Given the description of an element on the screen output the (x, y) to click on. 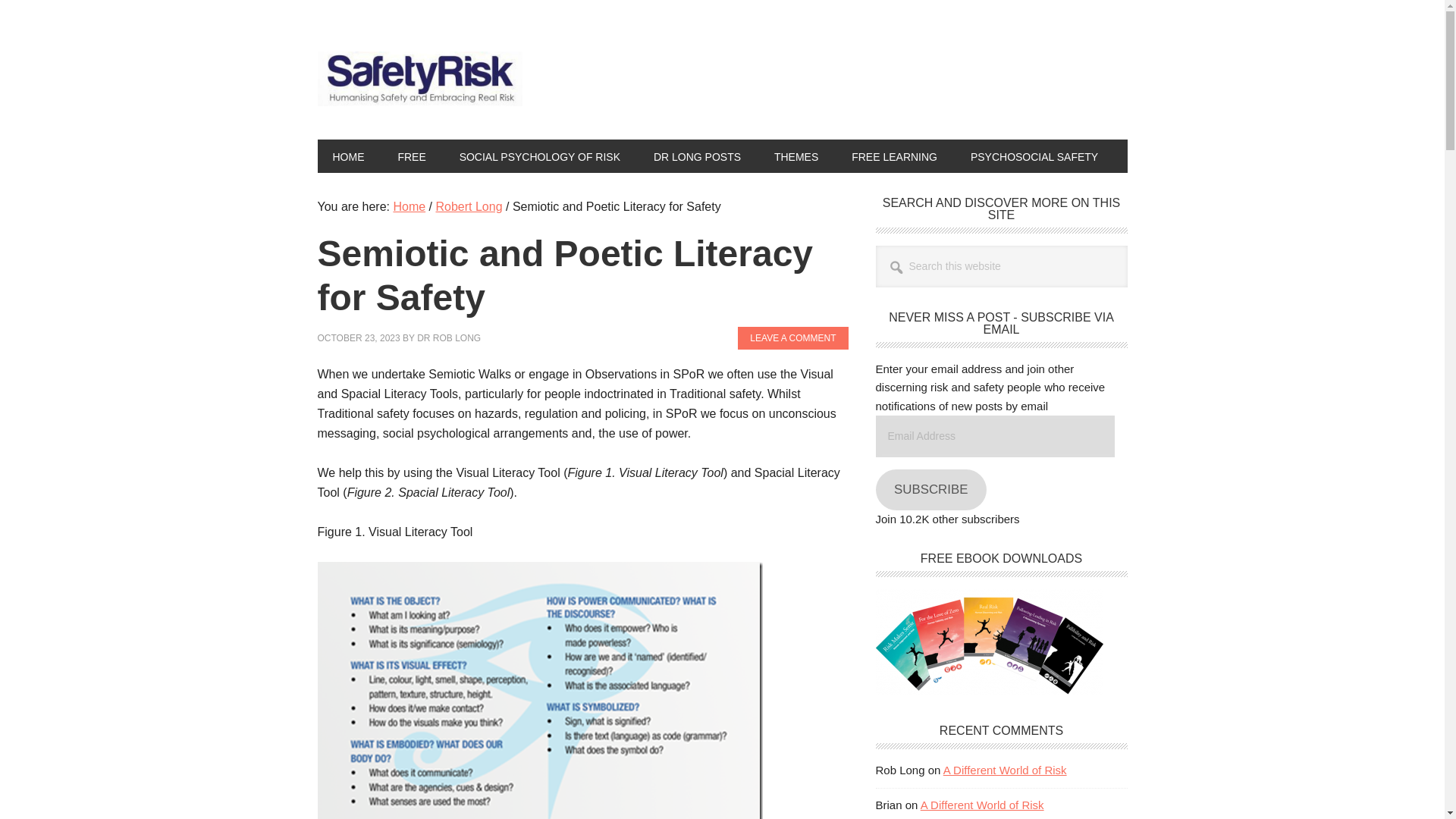
HOME (347, 155)
SAFETYRISK.NET (419, 81)
FREE (411, 155)
